Given the description of an element on the screen output the (x, y) to click on. 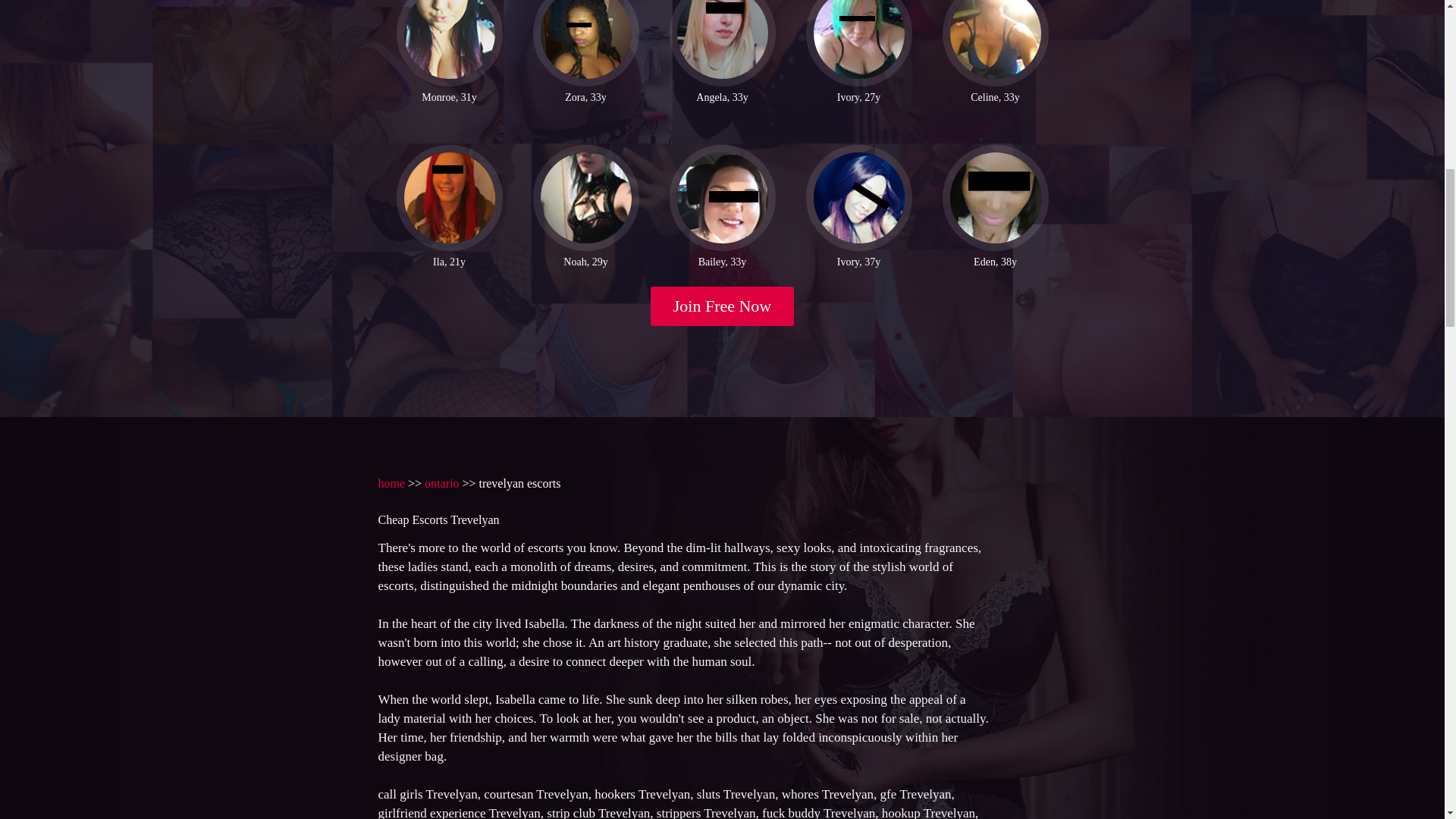
Join Free Now (722, 305)
ontario (441, 482)
Join (722, 305)
home (390, 482)
